Given the description of an element on the screen output the (x, y) to click on. 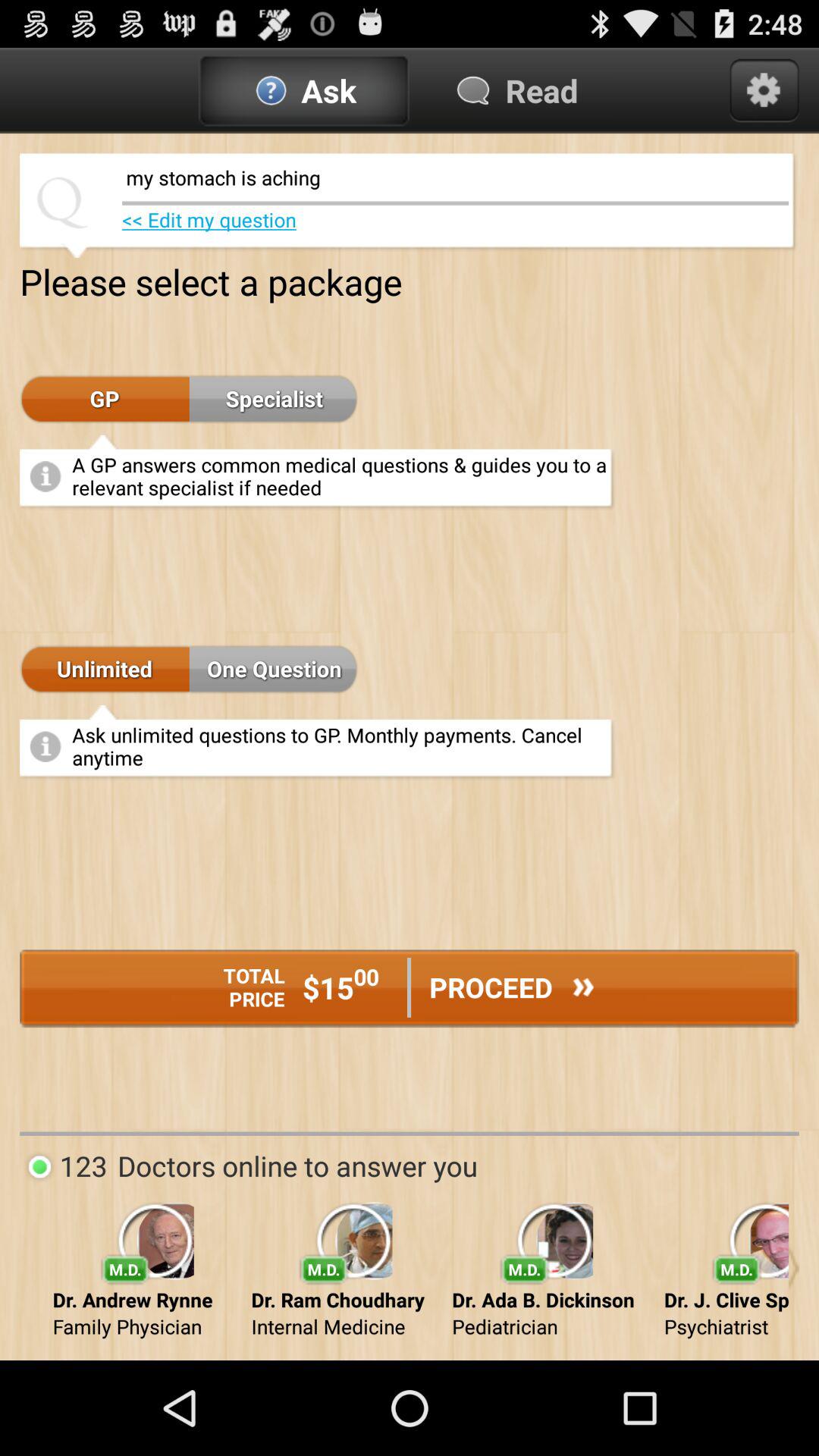
move right (793, 1267)
